Given the description of an element on the screen output the (x, y) to click on. 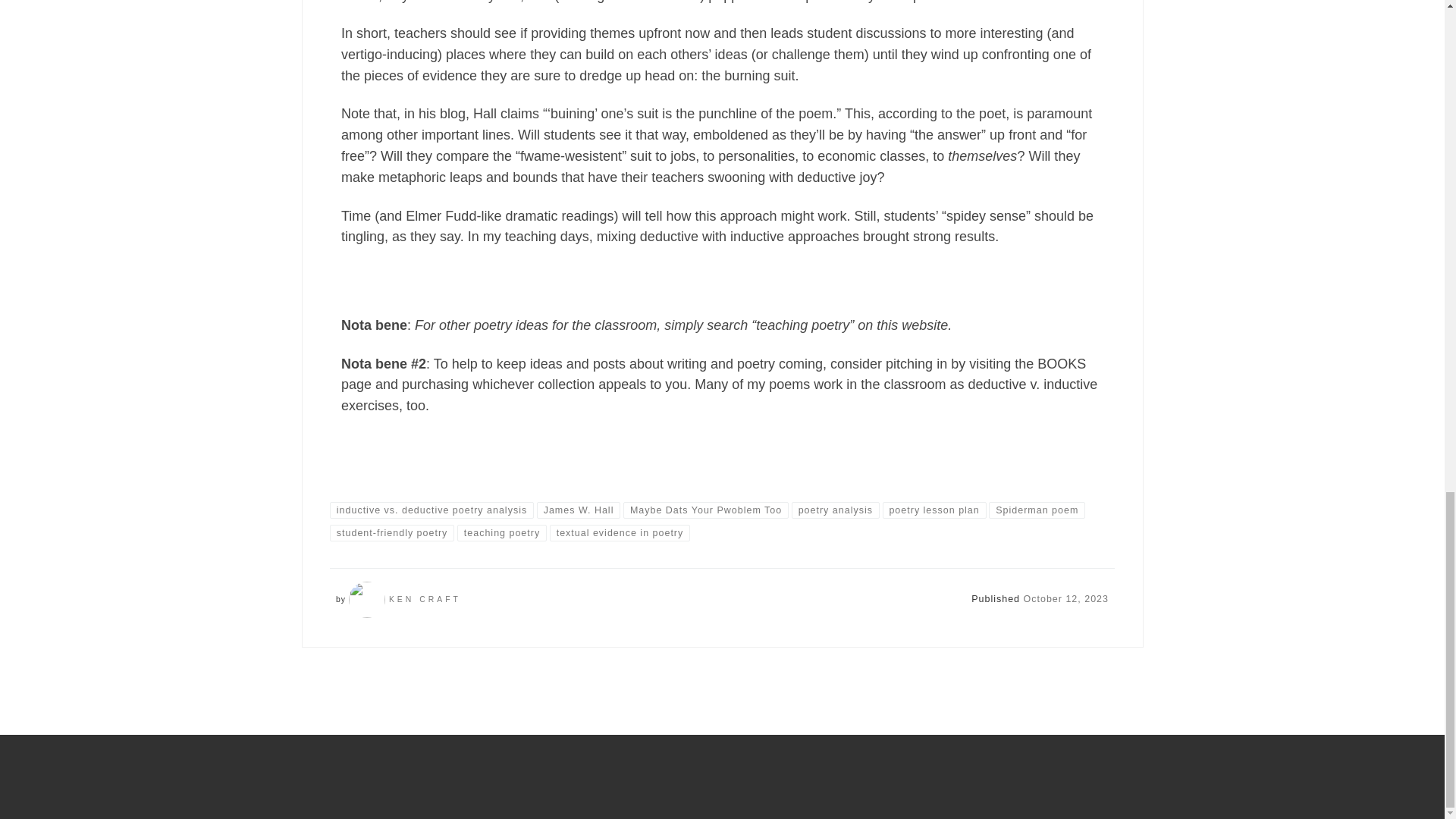
View all posts in James W. Hall (578, 510)
View all posts in teaching poetry (502, 532)
teaching poetry (502, 532)
View all posts in poetry analysis (835, 510)
Maybe Dats Your Pwoblem Too (706, 510)
poetry analysis (835, 510)
inductive vs. deductive poetry analysis (432, 510)
James W. Hall (578, 510)
poetry lesson plan (934, 510)
View all posts in student-friendly poetry (392, 532)
